Given the description of an element on the screen output the (x, y) to click on. 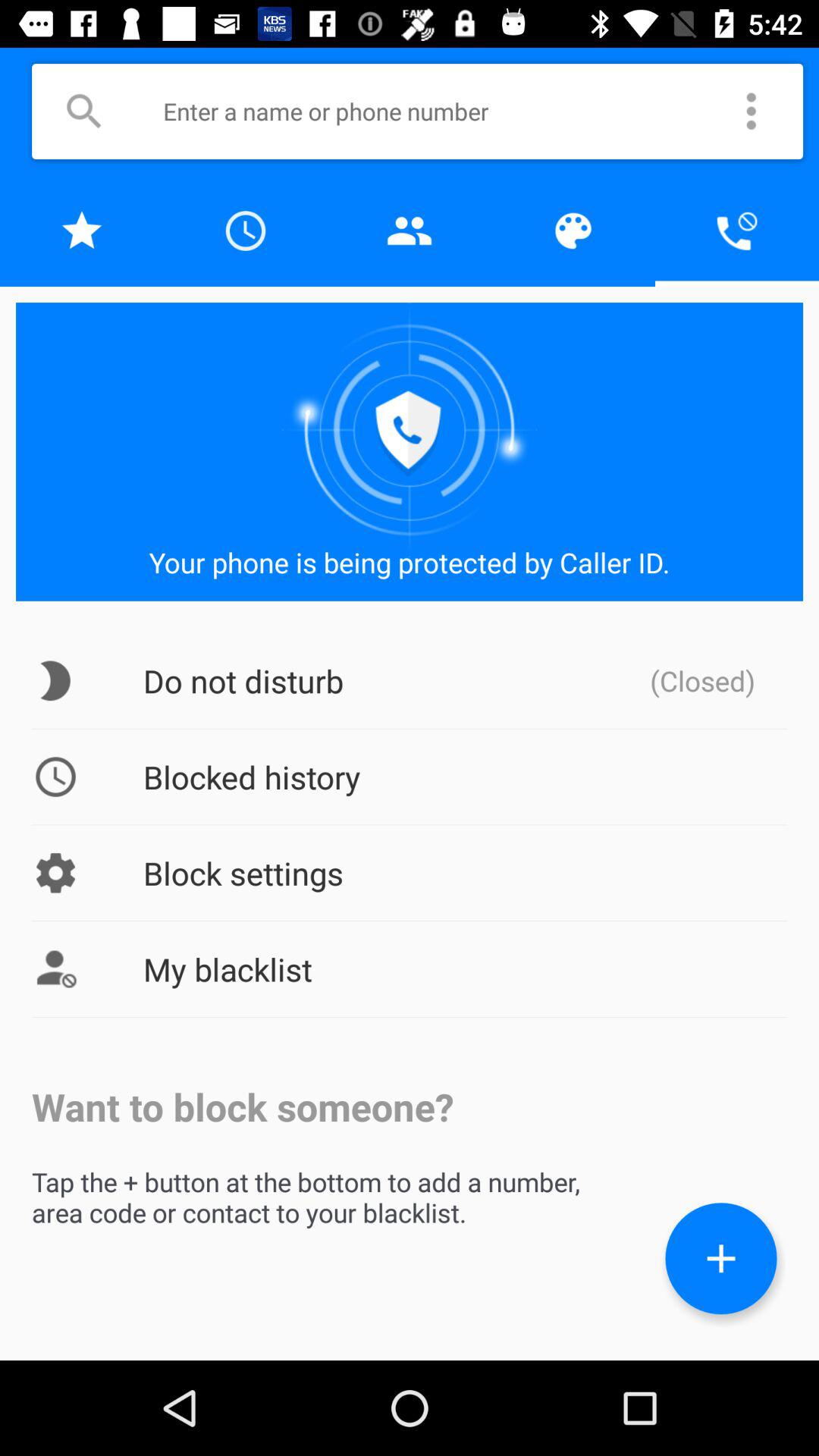
click on menu button (751, 110)
go to icon left side of blocked history (55, 776)
click on the last plus icon (721, 1259)
